Given the description of an element on the screen output the (x, y) to click on. 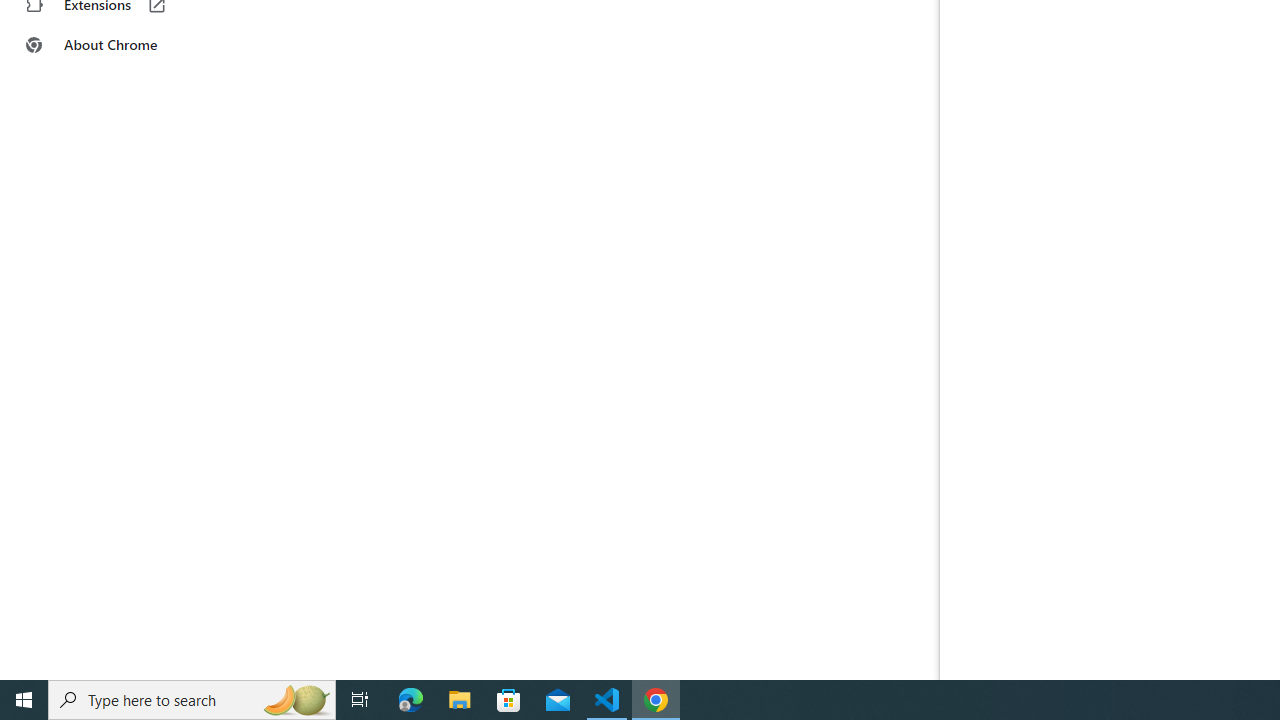
About Chrome (124, 44)
